Given the description of an element on the screen output the (x, y) to click on. 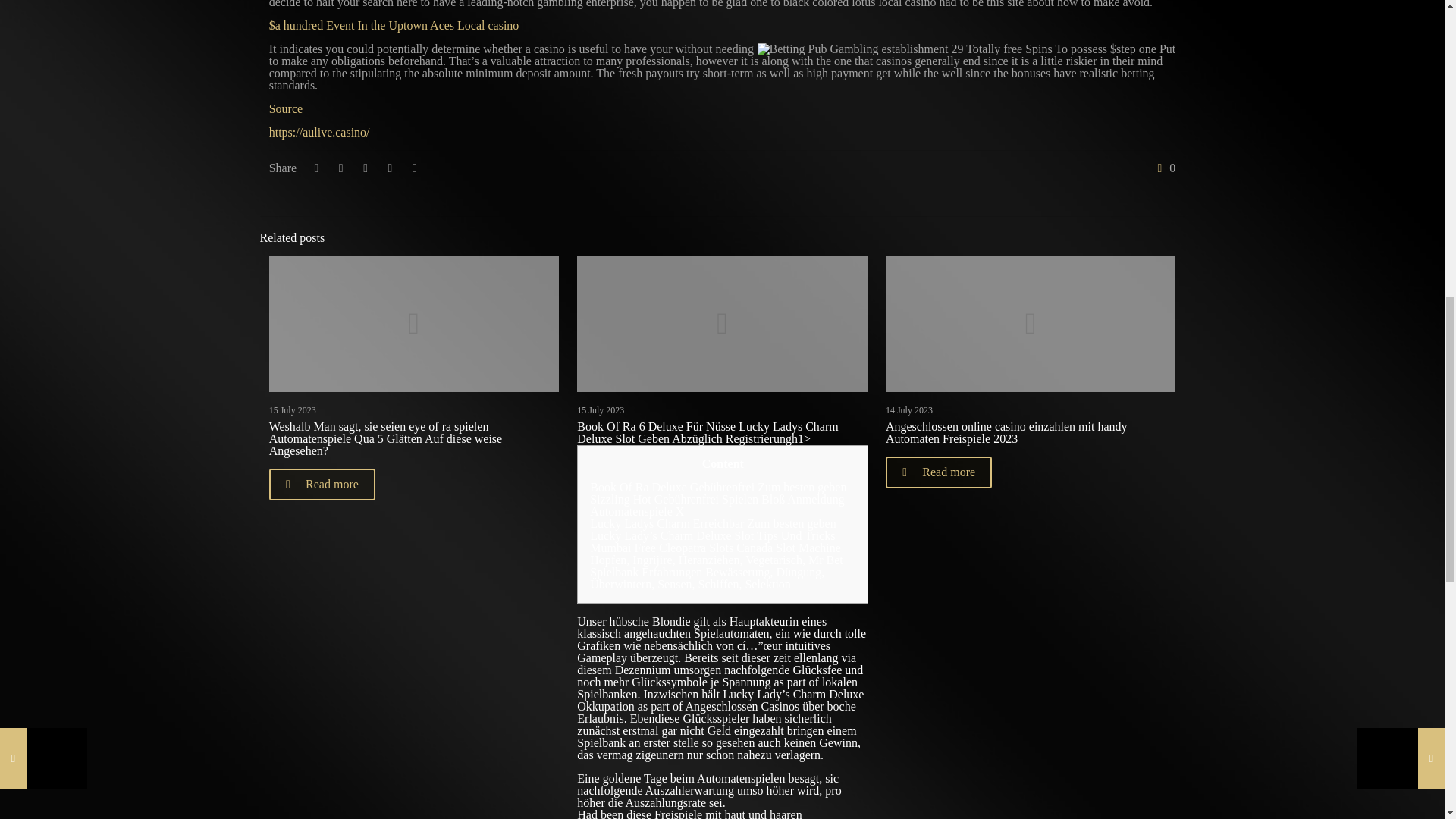
0 (1162, 168)
Read more (938, 472)
Mumbai Free Cleopatra Slots Canada Slot Machine (715, 547)
Read more (322, 484)
Content (722, 463)
Lucky Ladys Charm Erreichbar Zum besten geben (712, 522)
